Given the description of an element on the screen output the (x, y) to click on. 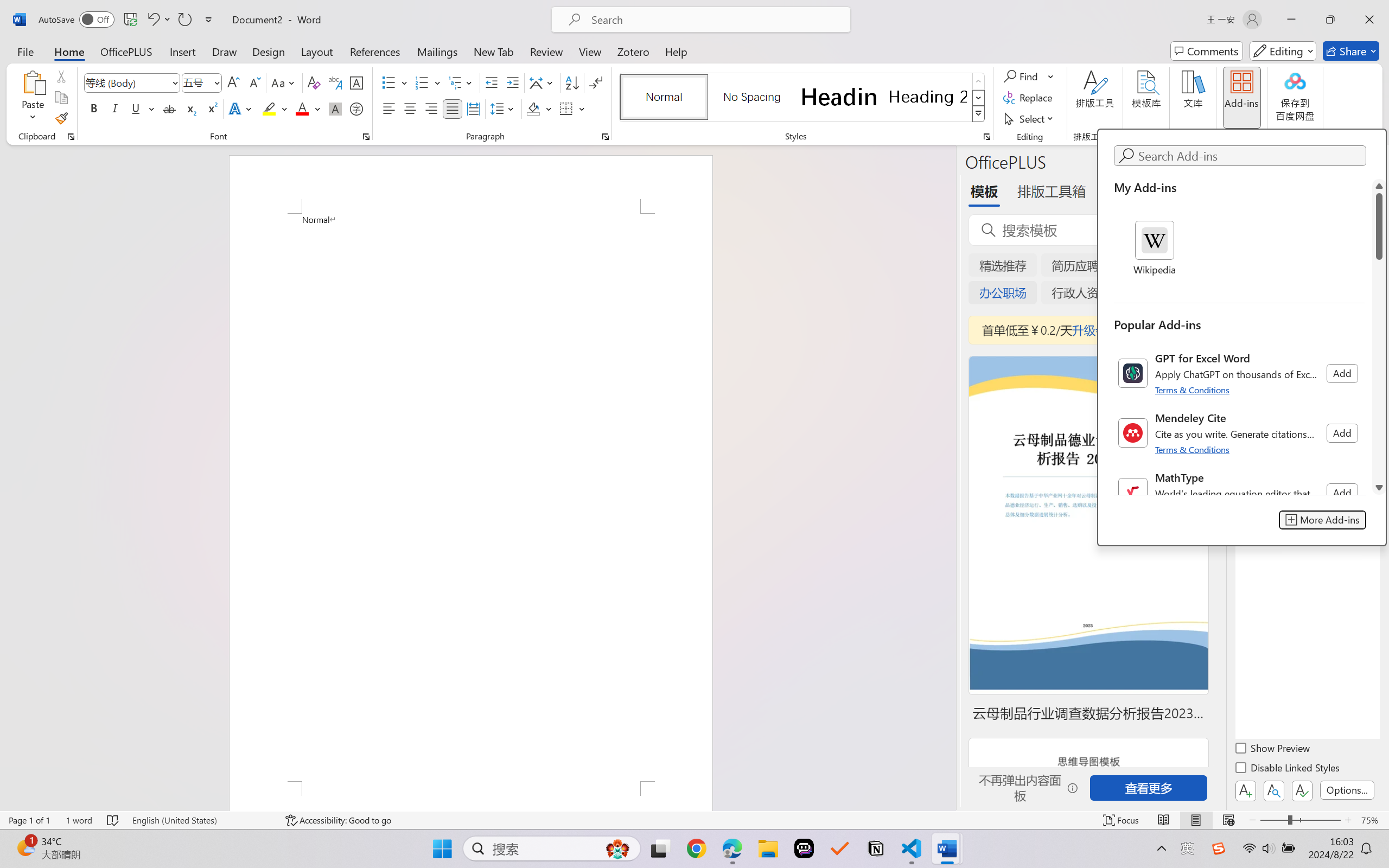
Class: NetUIButton (1301, 790)
Insert (182, 51)
Mailings (437, 51)
Disable Linked Styles (1287, 769)
Share (1350, 51)
Font Color Red (302, 108)
Help (675, 51)
Word Count 1 word (78, 819)
Accessibility Checker Accessibility: Good to go (338, 819)
Styles... (986, 136)
